Given the description of an element on the screen output the (x, y) to click on. 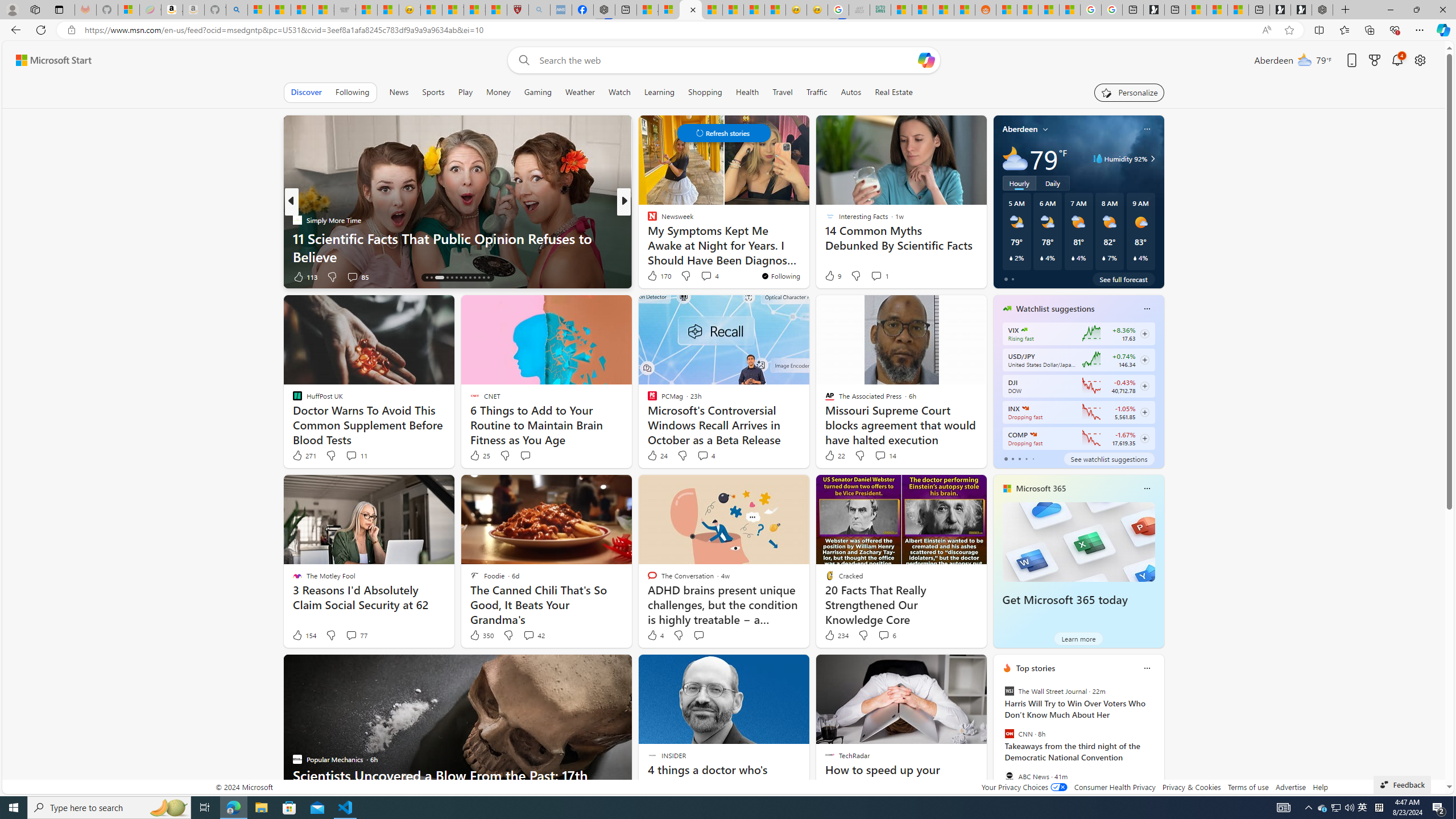
tab-2 (1019, 458)
25 Like (479, 455)
24 Like (657, 455)
AutomationID: tab-18 (451, 277)
